Given the description of an element on the screen output the (x, y) to click on. 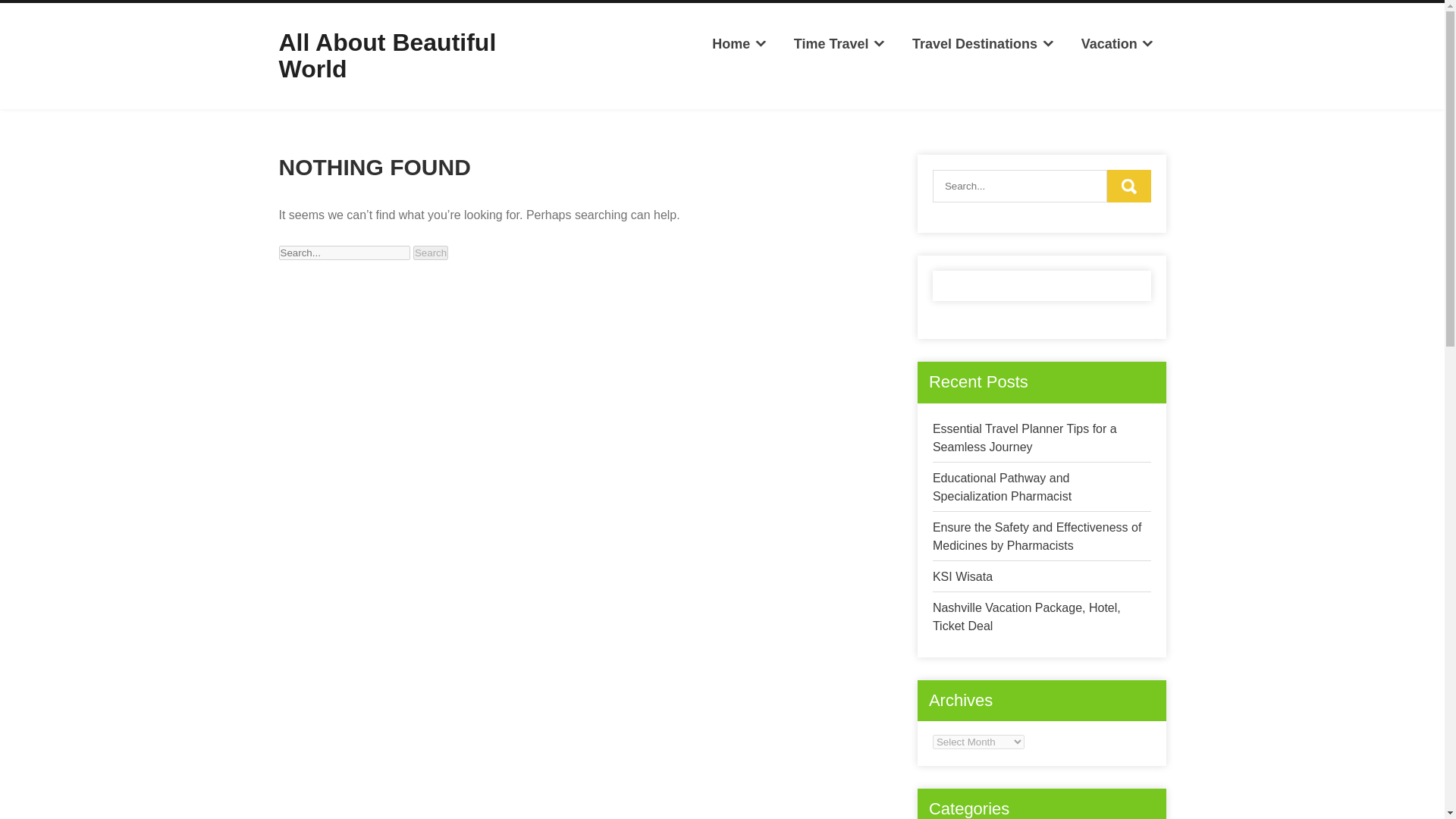
Search (1128, 185)
Travel Destinations (983, 44)
Search (1128, 185)
All About Beautiful World (387, 55)
Essential Travel Planner Tips for a Seamless Journey (1024, 437)
Educational Pathway and Specialization Pharmacist (1002, 486)
Nashville Vacation Package, Hotel, Ticket Deal (1027, 616)
Search (430, 252)
Search (430, 252)
